Given the description of an element on the screen output the (x, y) to click on. 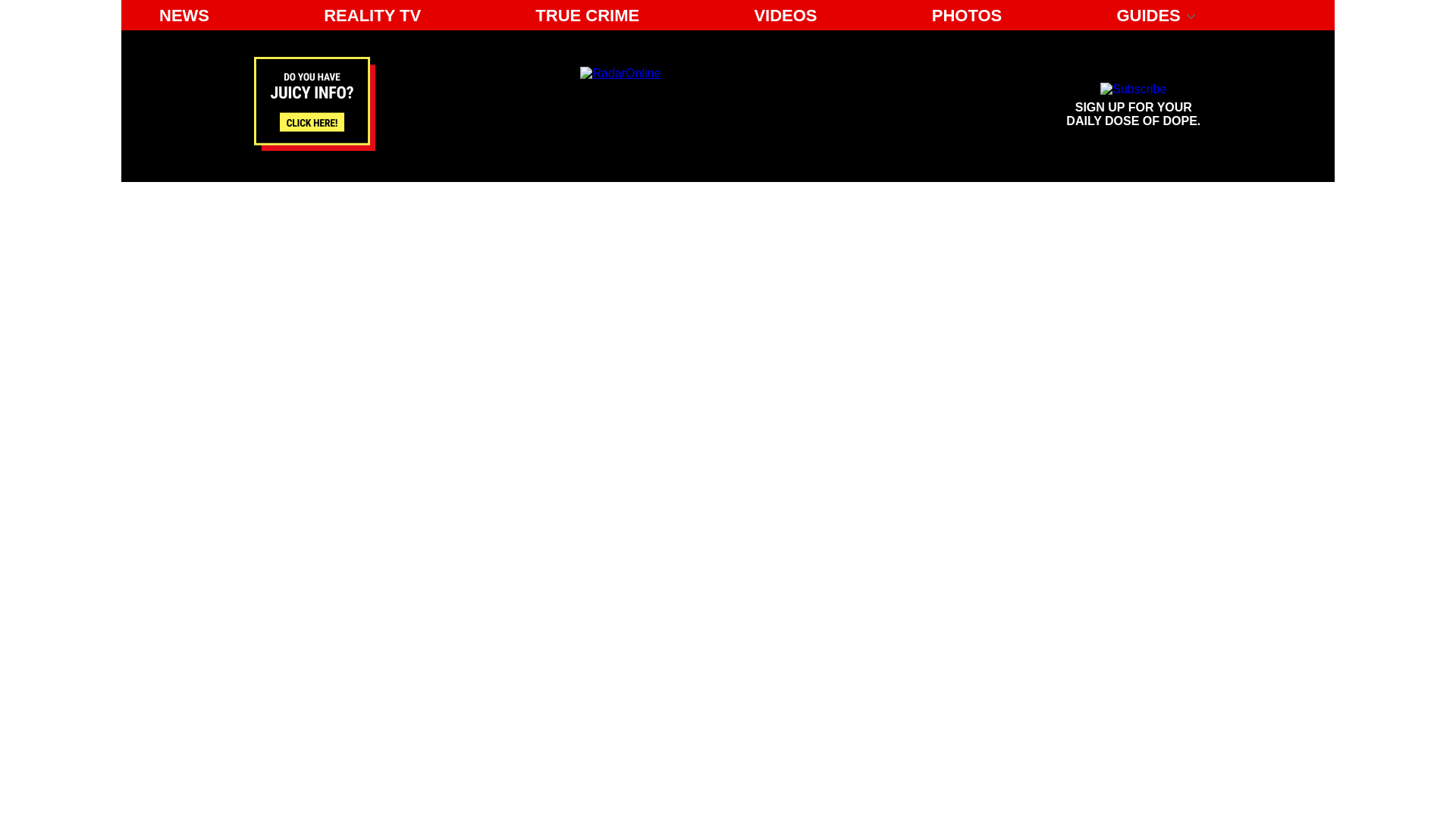
Sign up for your daily dose of dope. (1133, 104)
VIDEOS (784, 15)
Radar Online (1133, 104)
PHOTOS (719, 105)
TRUE CRIME (967, 15)
NEWS (586, 15)
REALITY TV (183, 15)
Email us your tip (371, 15)
